Given the description of an element on the screen output the (x, y) to click on. 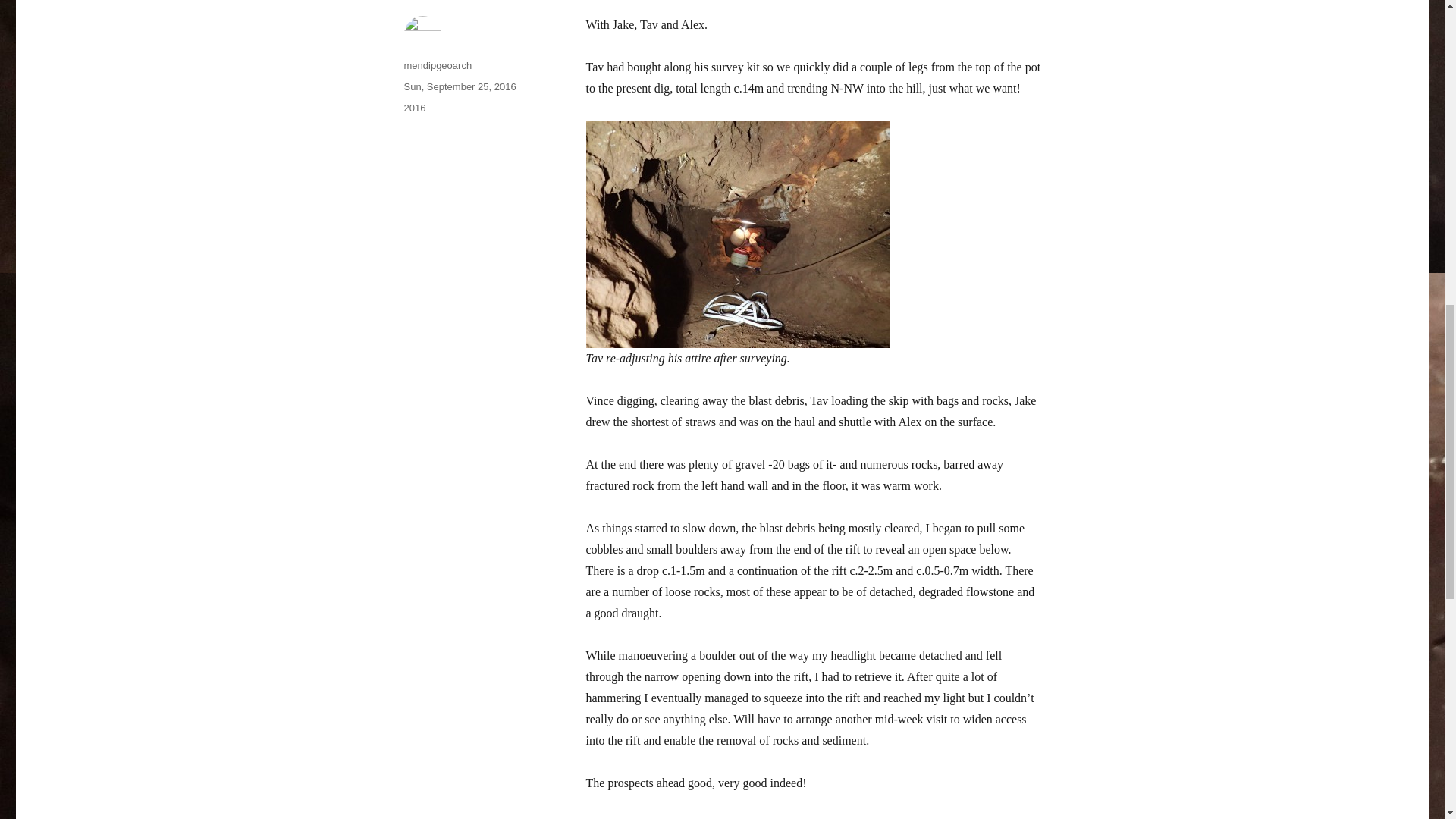
Sun, September 25, 2016 (459, 86)
mendipgeoarch (437, 65)
2016 (414, 107)
